Given the description of an element on the screen output the (x, y) to click on. 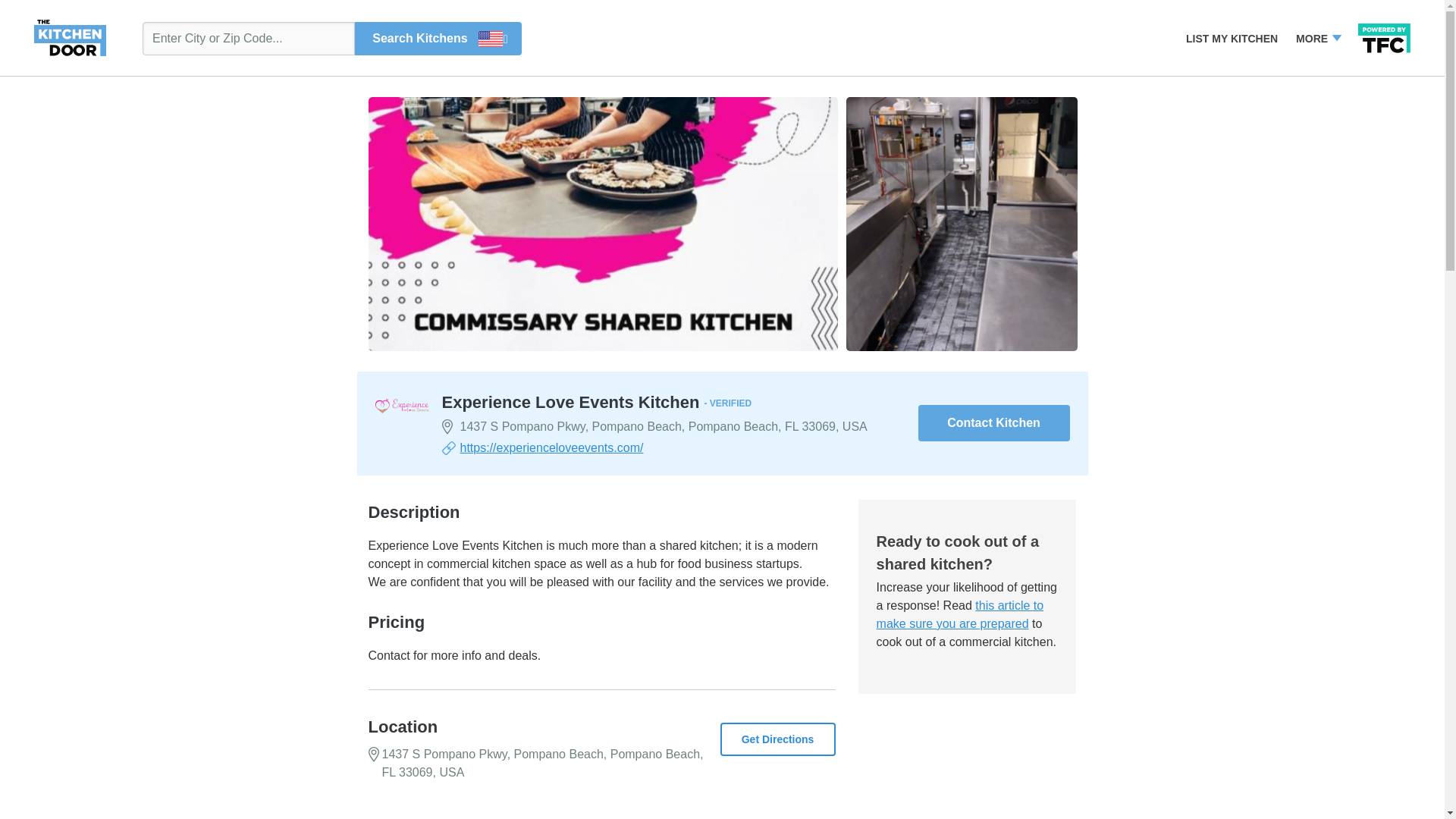
Get Directions (777, 738)
Contact Kitchen (992, 422)
MORE (1317, 38)
this article to make sure you are prepared (959, 613)
Search Kitchens (438, 37)
LIST MY KITCHEN (1232, 38)
Search Kitchens (438, 37)
The Food Coridor (1384, 34)
The Kitchen Door (69, 36)
Search Kitchens (438, 37)
Contact Kitchen (992, 422)
